Given the description of an element on the screen output the (x, y) to click on. 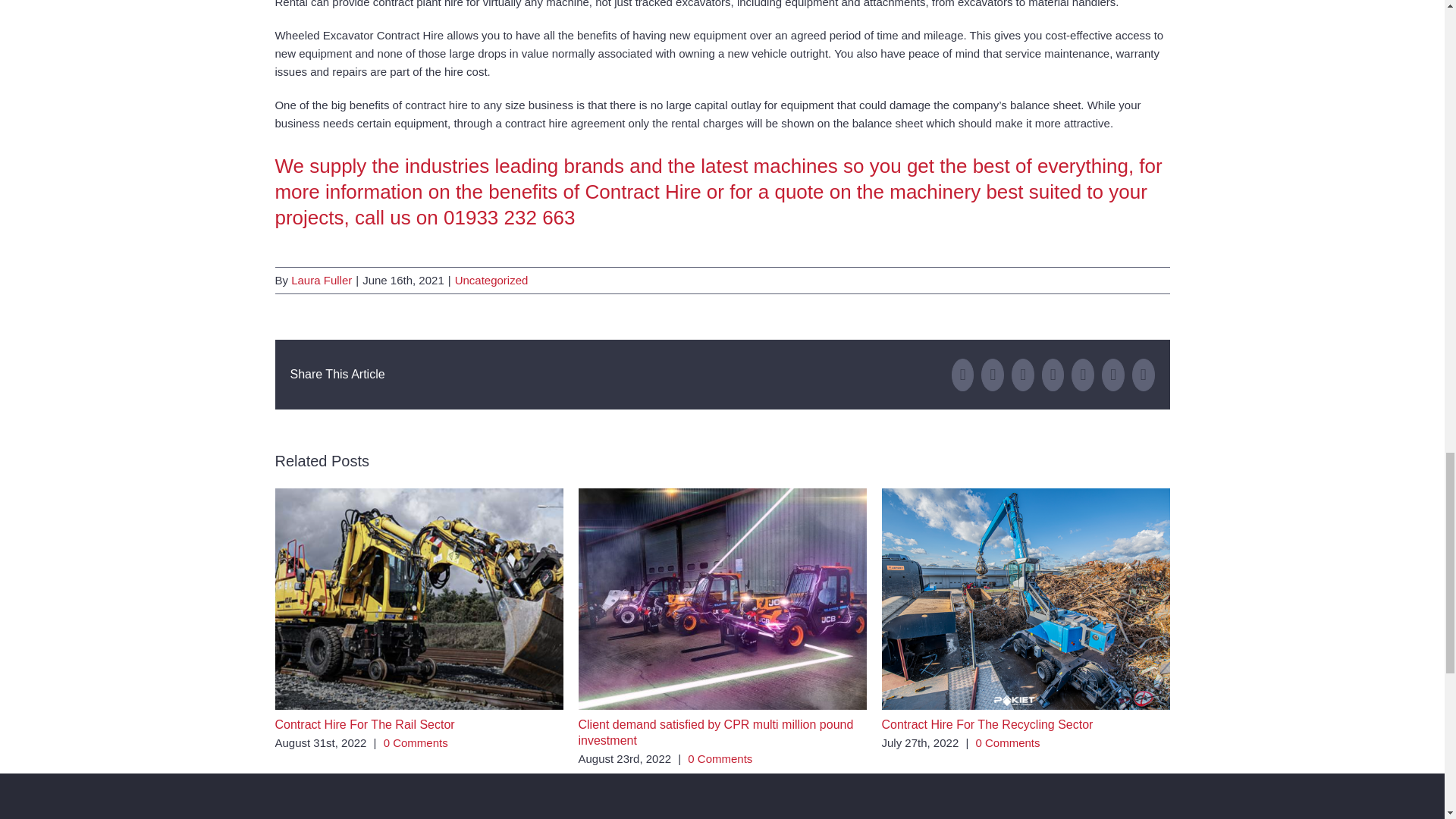
Contract Hire For The Rail Sector (364, 724)
Posts by Laura Fuller (321, 279)
